Given the description of an element on the screen output the (x, y) to click on. 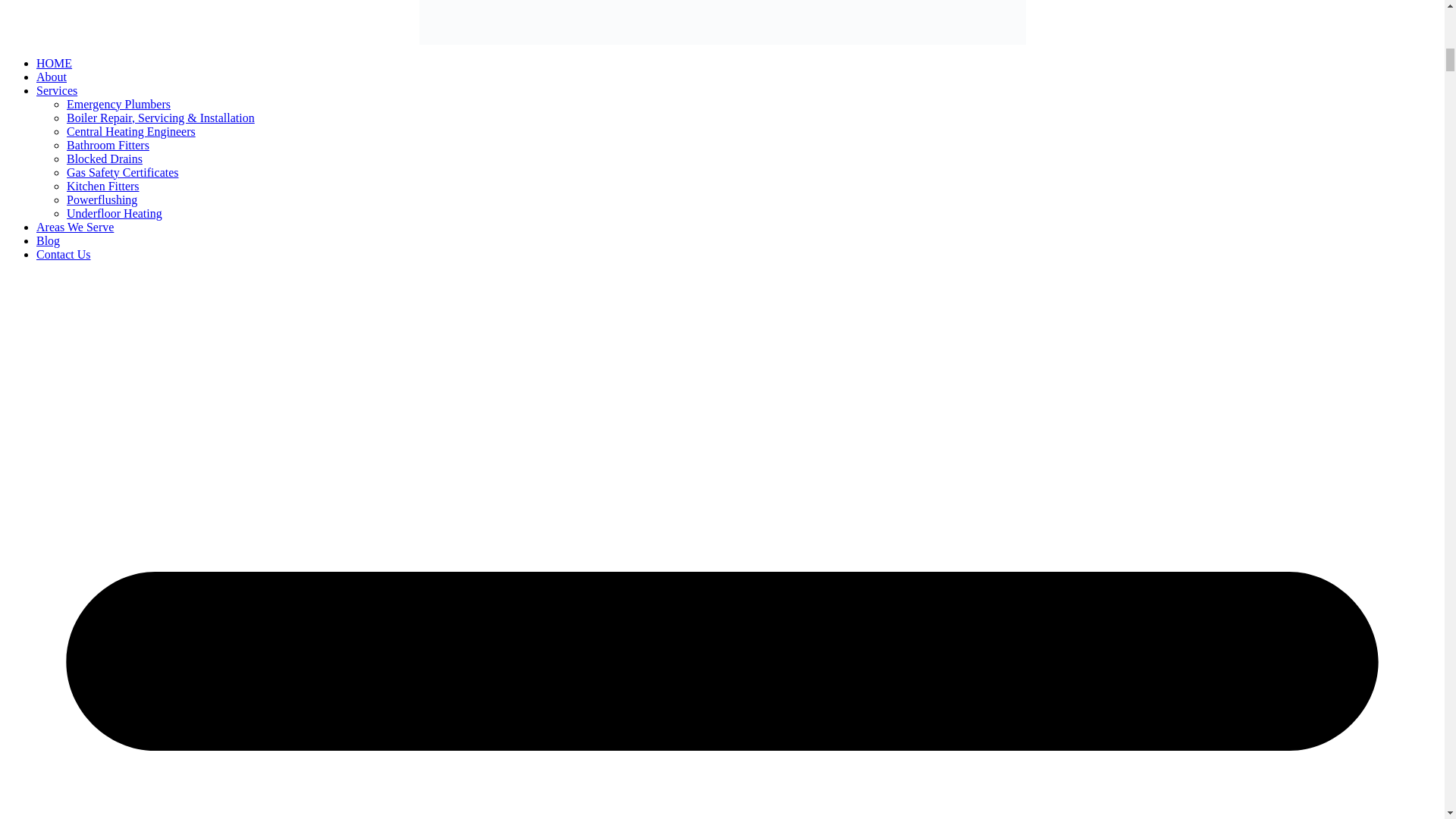
Underfloor Heating (113, 212)
Powerflushing (101, 198)
Kitchen Fitters (102, 185)
Central Heating Engineers (130, 130)
Areas We Serve (74, 226)
Contact Us (63, 253)
About (51, 75)
Bathroom Fitters (107, 144)
Blocked Drains (104, 157)
Emergency Plumbers (118, 103)
